Given the description of an element on the screen output the (x, y) to click on. 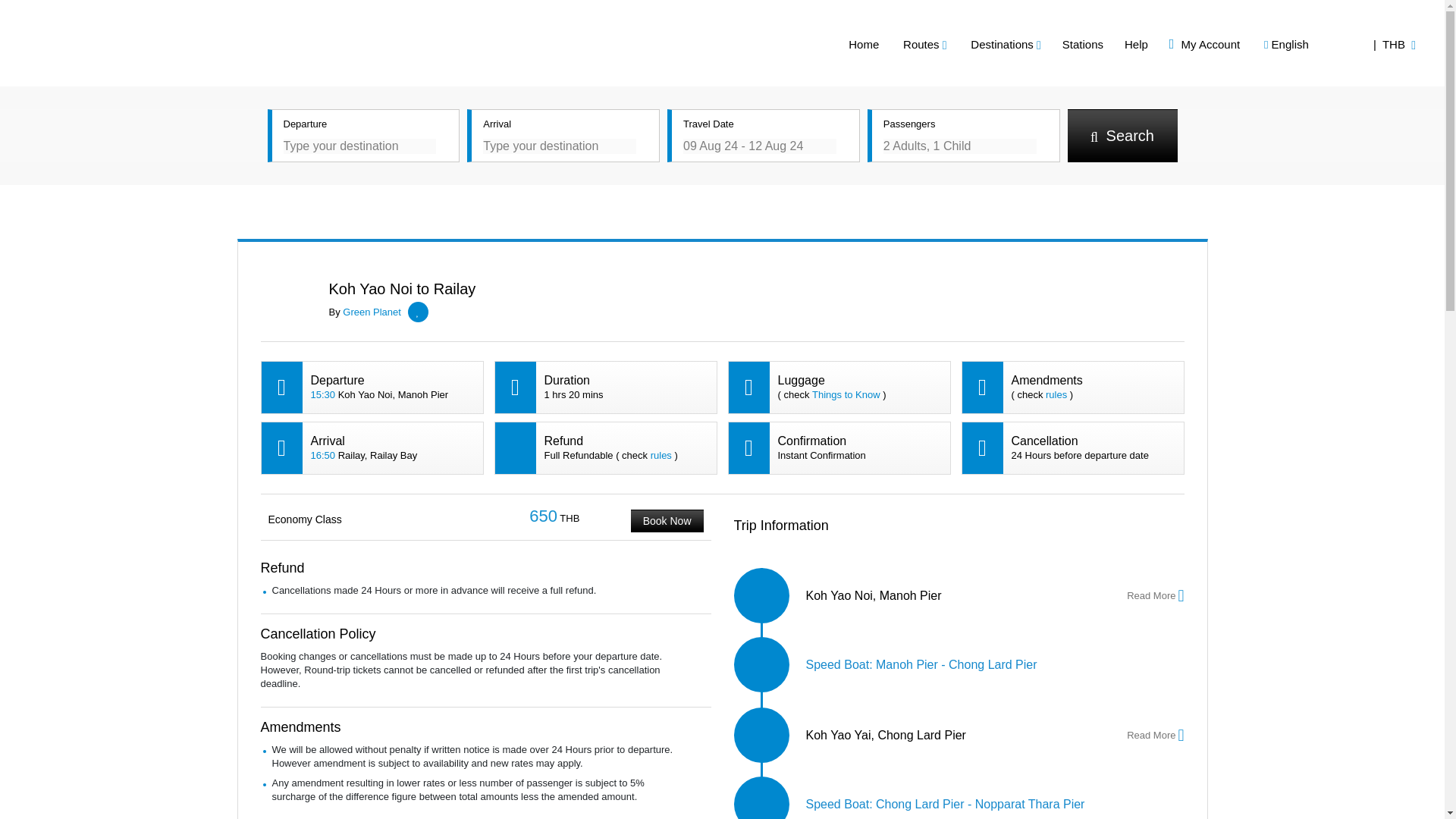
Search (1122, 135)
Stations (1119, 43)
Help (1173, 43)
Home (900, 43)
Phuket Ferry (154, 40)
Destinations (1043, 43)
My Account (1241, 44)
Routes (962, 43)
Tell a Friend (1185, 218)
